Given the description of an element on the screen output the (x, y) to click on. 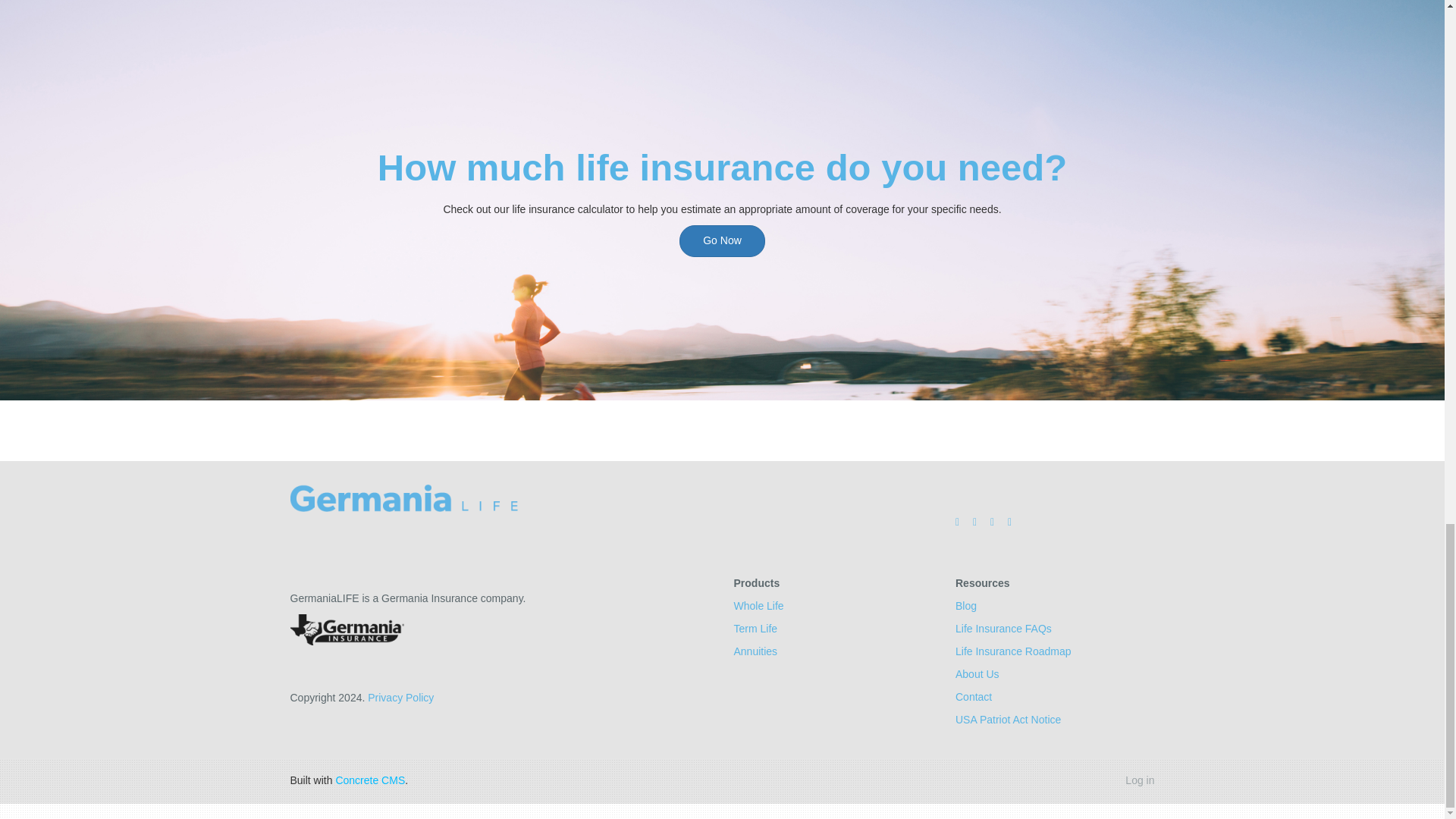
Log in (1139, 779)
Privacy Policy (400, 697)
Annuities (755, 651)
Life Insurance Roadmap (1013, 651)
USA Patriot Act Notice (1008, 719)
Term Life (755, 628)
Life Insurance FAQs (1003, 628)
About Us (976, 674)
GermaniaLIFE (402, 497)
Blog (965, 605)
Go Now (722, 240)
Contact (973, 696)
Concrete CMS (369, 779)
Whole Life (758, 605)
